Given the description of an element on the screen output the (x, y) to click on. 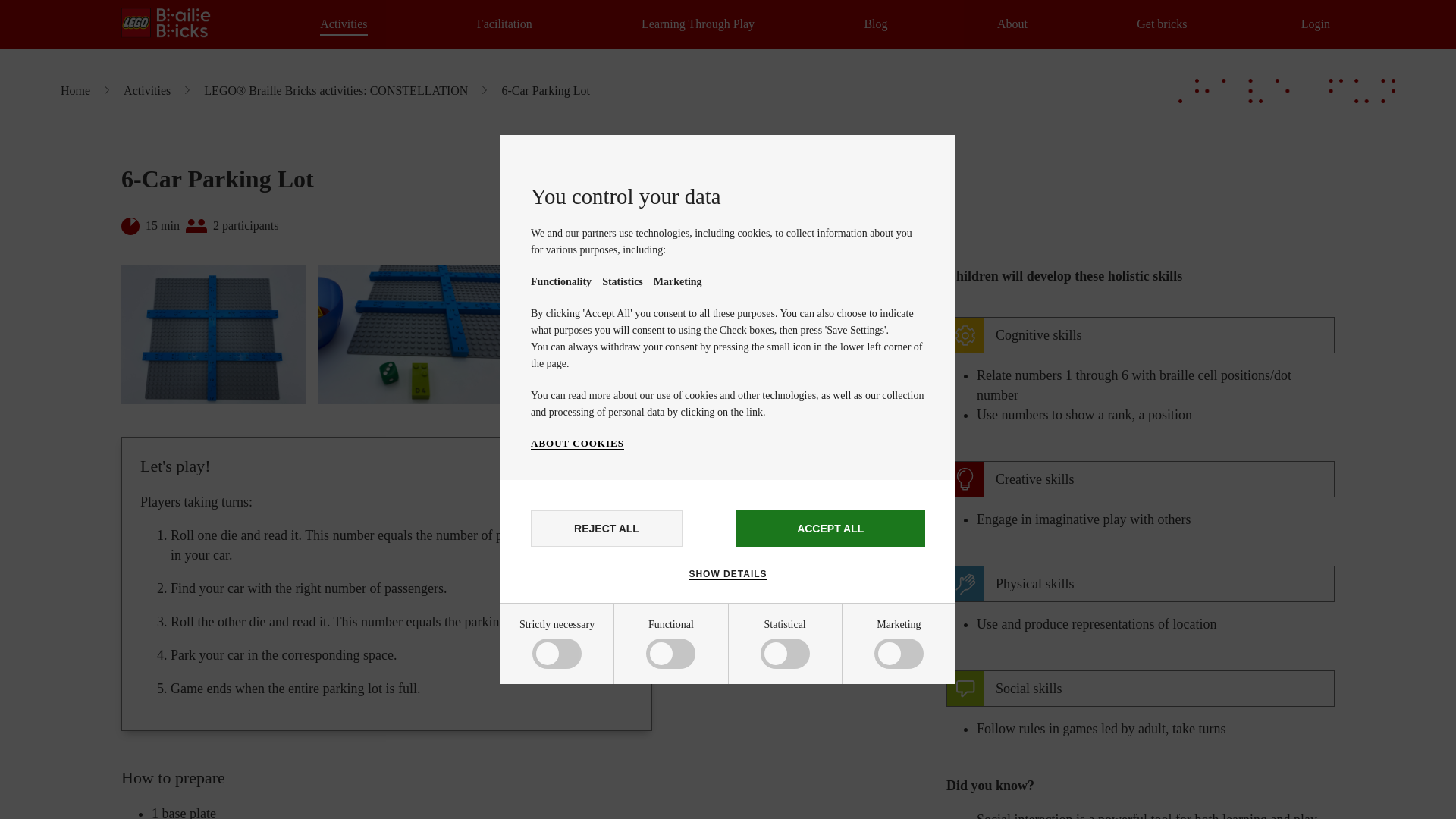
ACCEPT ALL (829, 528)
Activities (343, 24)
Strictly necessary (585, 657)
About (1012, 24)
Facilitation (504, 24)
SHOW DETAILS (727, 573)
Marketing (585, 809)
Blog (874, 24)
Learning Through Play (698, 24)
Functional (585, 714)
Statistical (585, 766)
ABOUT COOKIES (577, 443)
REJECT ALL (606, 528)
